Given the description of an element on the screen output the (x, y) to click on. 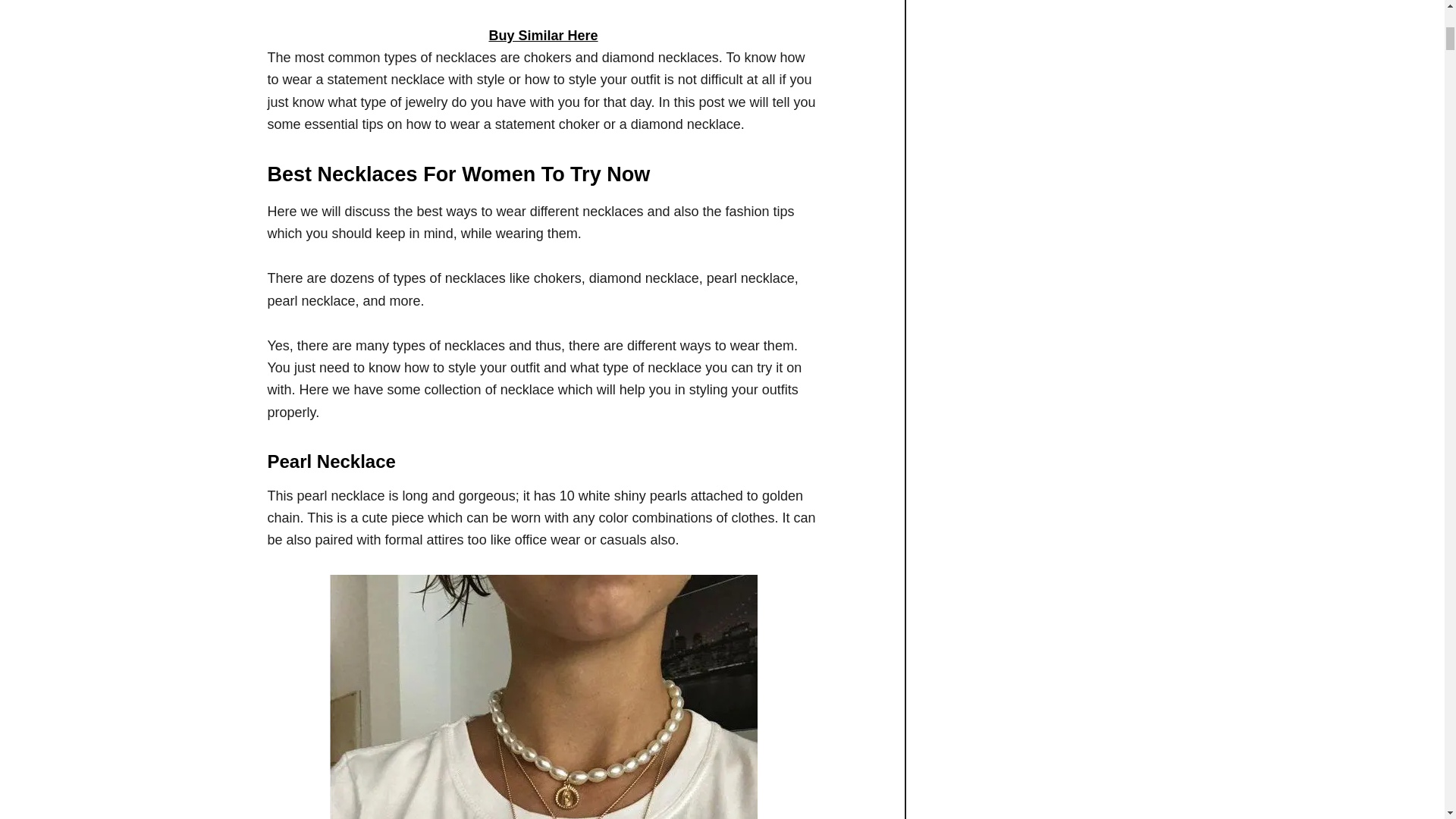
Necklaces For Women Best Designs To Try This Year 2023 (543, 696)
Buy Similar Here (541, 35)
